Given the description of an element on the screen output the (x, y) to click on. 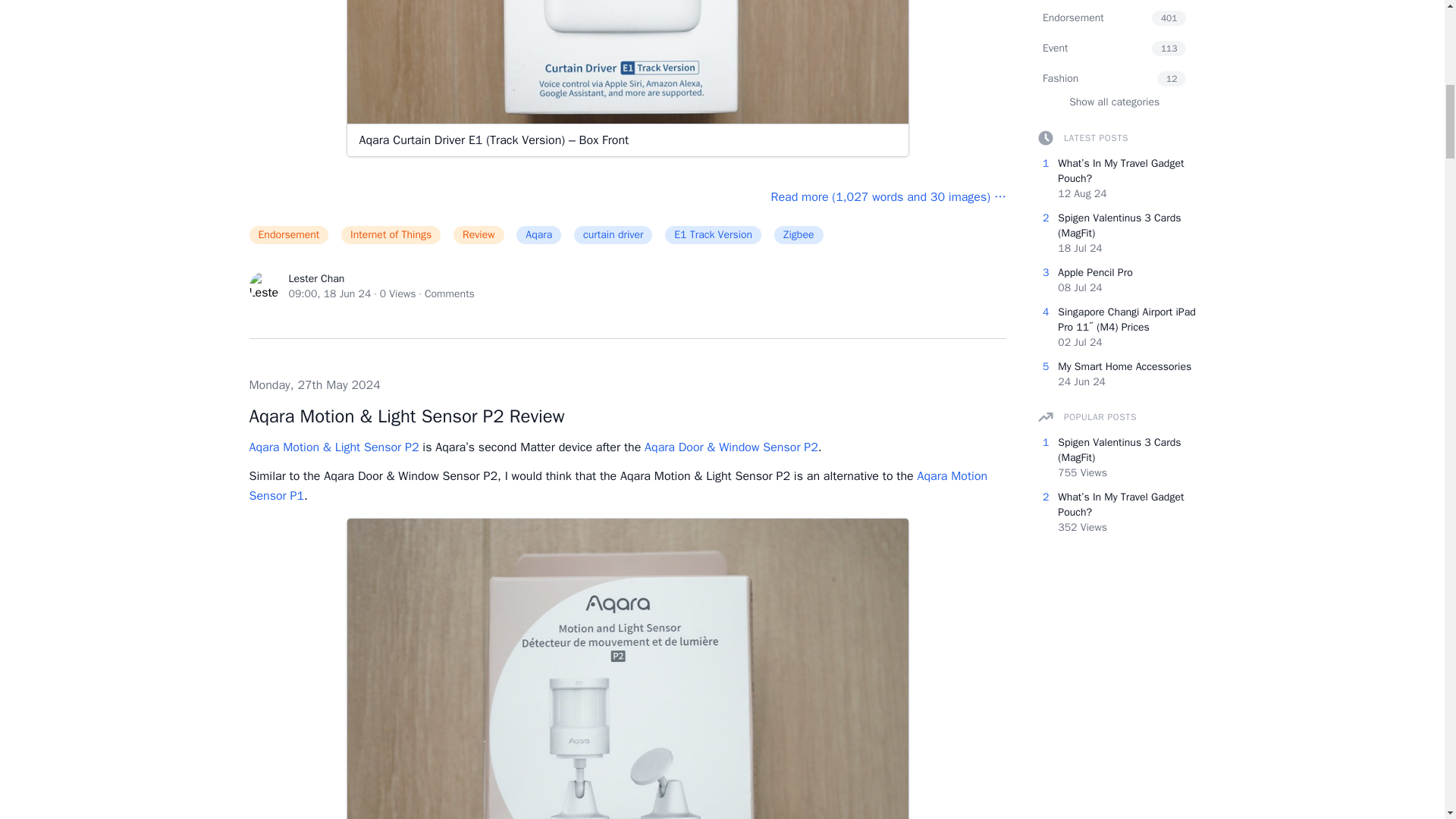
Aqara (543, 239)
Zigbee (803, 239)
Category: Endorsement (292, 239)
Review (482, 239)
Aqara Motion Sensor P1 (617, 485)
Category: Review (482, 239)
Lester Chan (263, 286)
curtain driver (617, 239)
Tag: E1 Track Version (717, 239)
Lester Chan (315, 278)
